Given the description of an element on the screen output the (x, y) to click on. 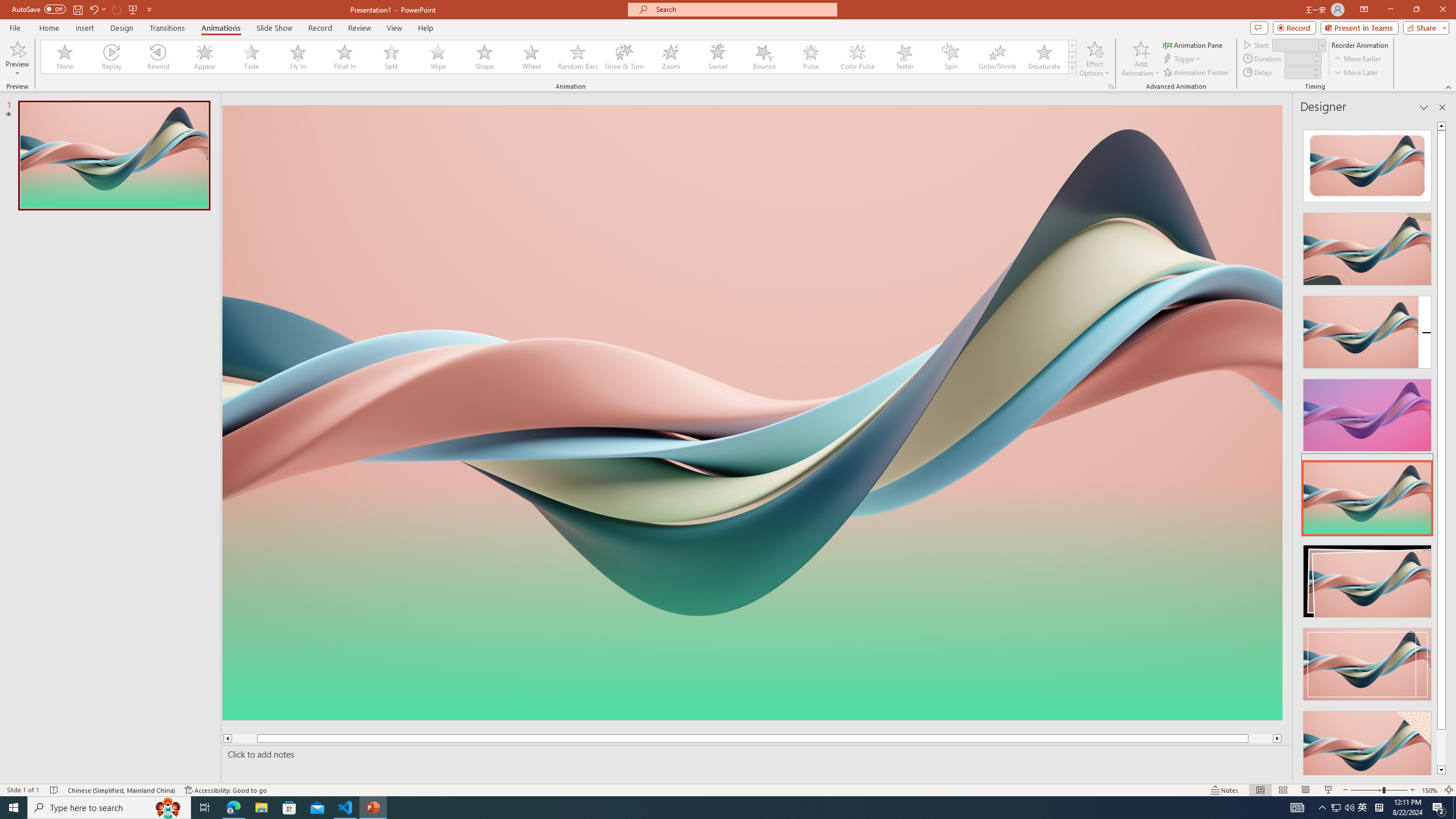
Recommended Design: Design Idea (1366, 162)
Redo (117, 9)
Review (359, 28)
System (6, 6)
Close pane (1441, 107)
Zoom 150% (1430, 790)
Design (122, 28)
Pulse (810, 56)
Task Pane Options (1423, 107)
System (6, 6)
Zoom Out (1367, 790)
Trigger (1182, 58)
Help (425, 28)
More Options... (1110, 85)
Reading View (1305, 790)
